Given the description of an element on the screen output the (x, y) to click on. 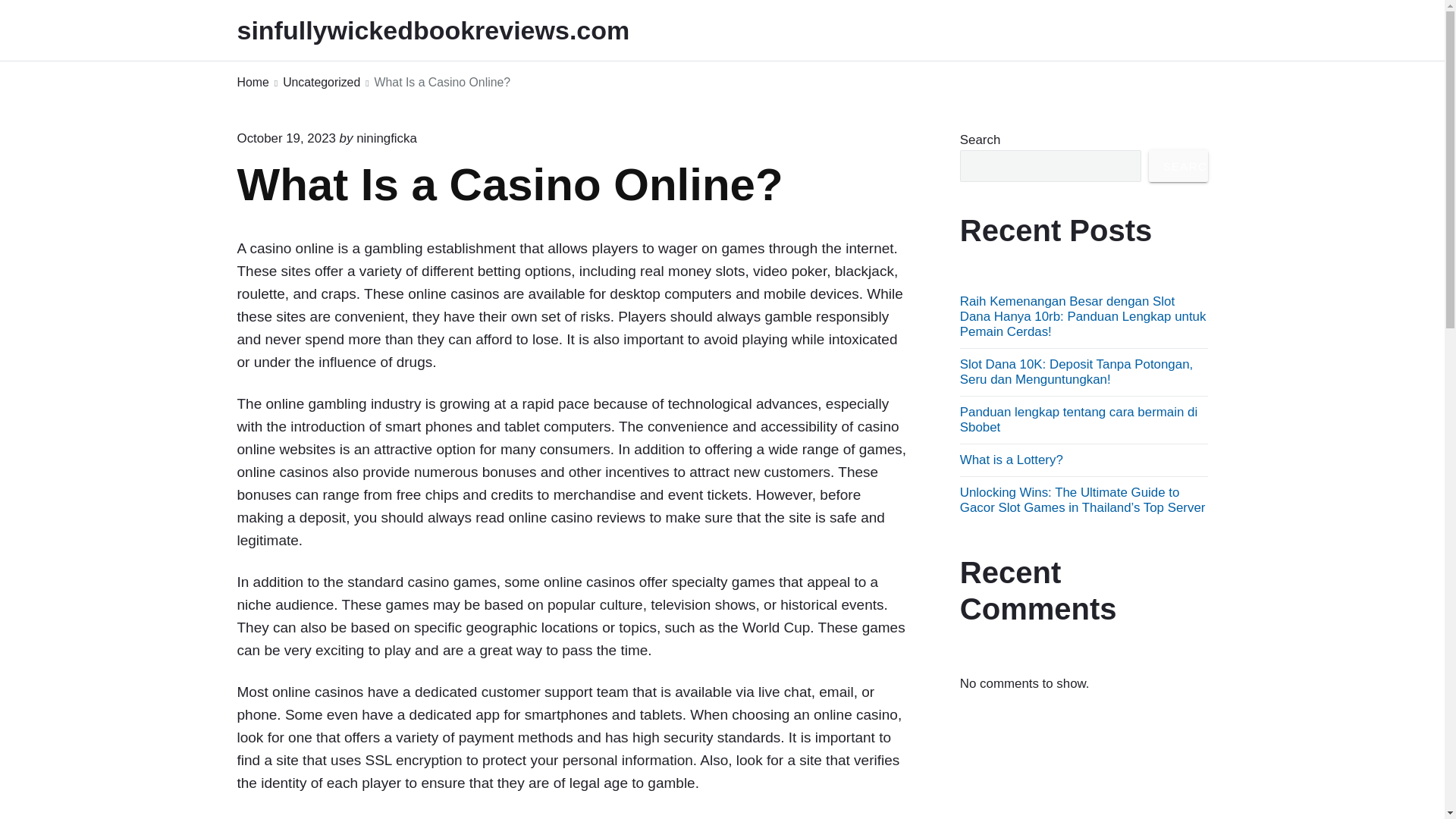
Thursday, October 19, 2023, 11:26 pm (284, 138)
Panduan lengkap tentang cara bermain di Sbobet (1077, 419)
Home (251, 82)
niningficka (386, 138)
Uncategorized (320, 82)
SEARCH (1178, 165)
Posts by niningficka (386, 138)
sinfullywickedbookreviews.com (453, 30)
